Given the description of an element on the screen output the (x, y) to click on. 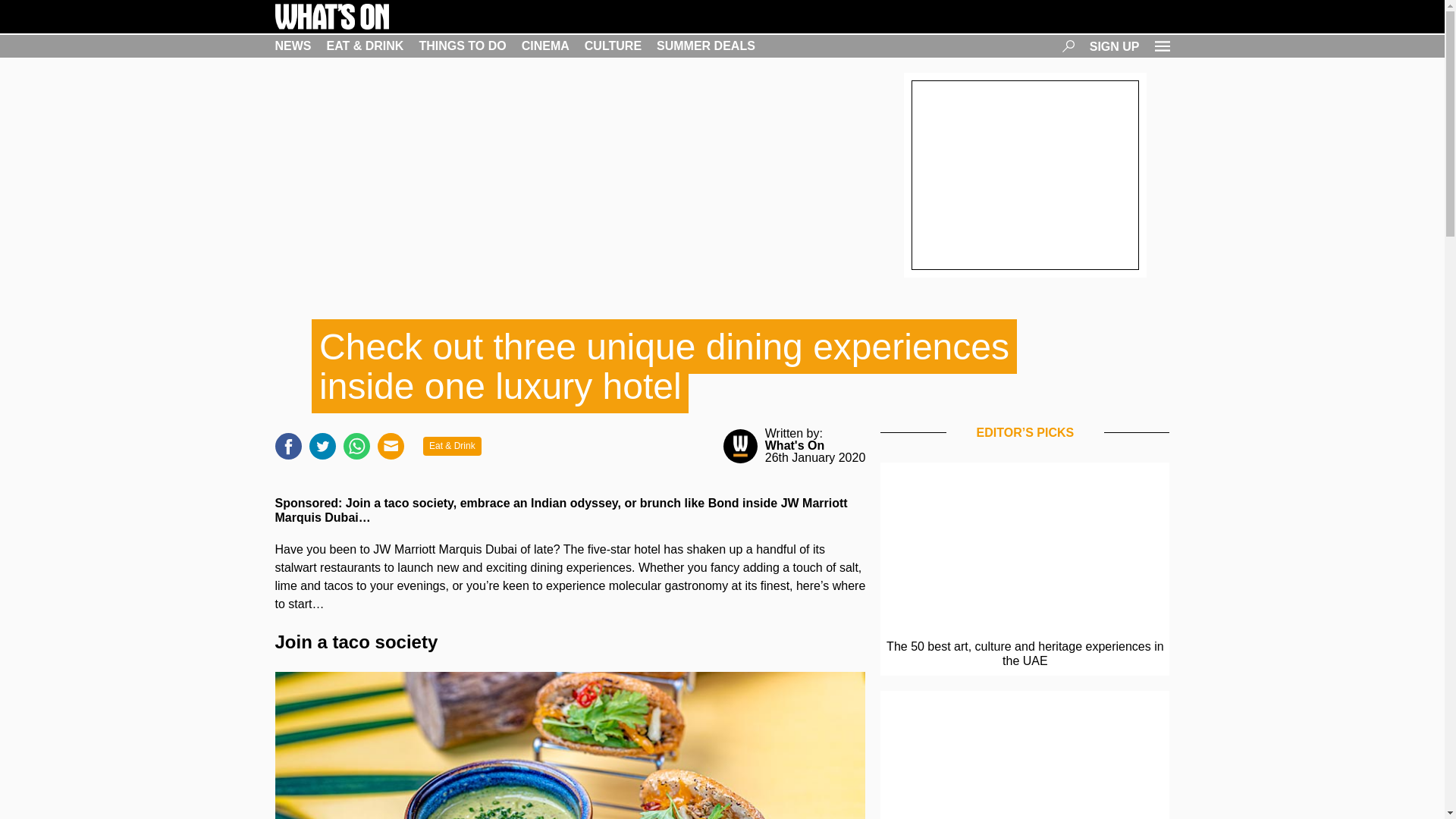
SIGN UP (1114, 45)
CULTURE (613, 45)
SUMMER DEALS (705, 45)
CINEMA (545, 45)
THINGS TO DO (462, 45)
NEWS (293, 45)
